Given the description of an element on the screen output the (x, y) to click on. 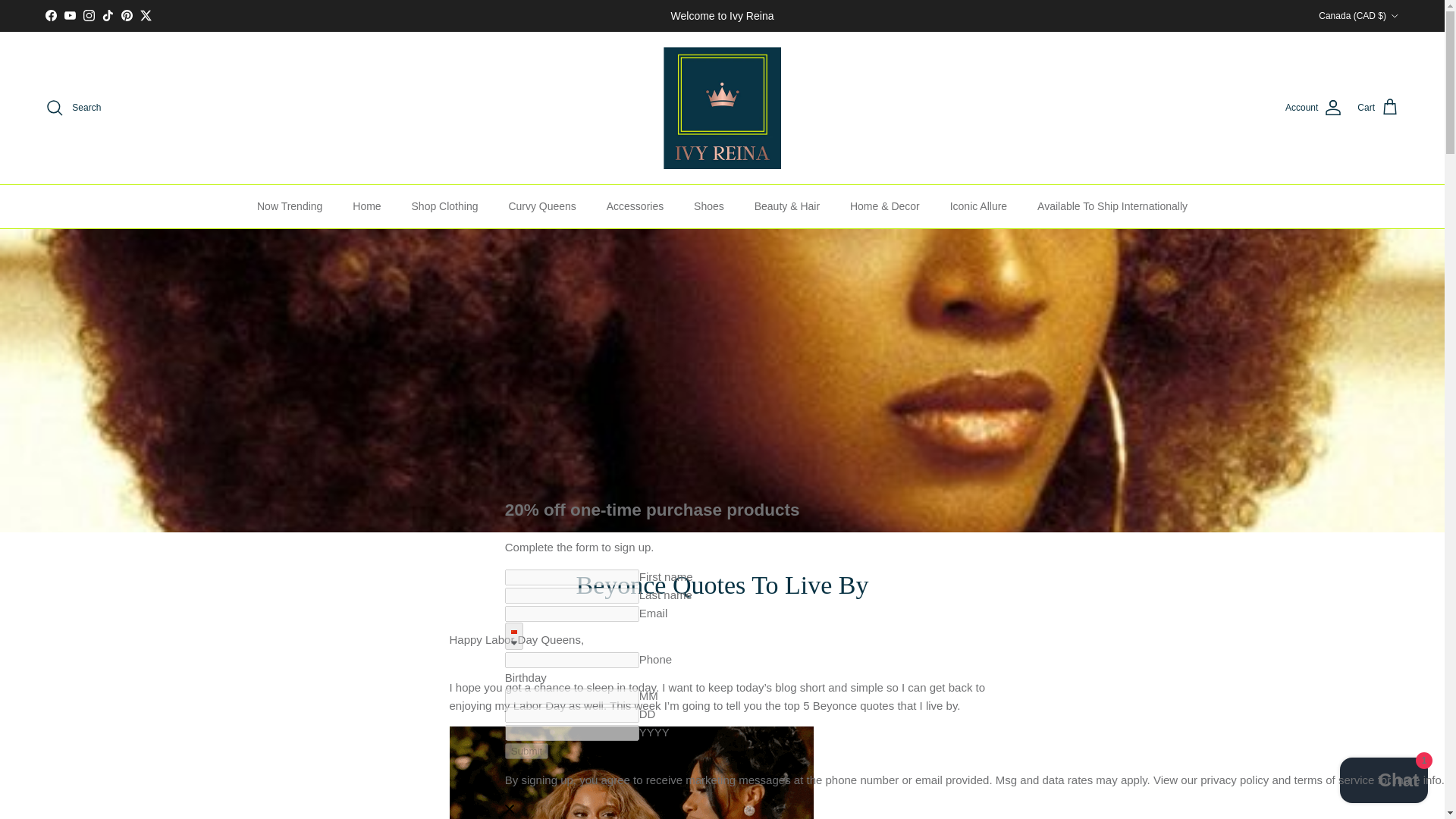
Ivy Reina on Pinterest (126, 15)
Cart (1377, 107)
Now Trending (289, 206)
TikTok (107, 15)
Ivy Reina on YouTube (69, 15)
YouTube (69, 15)
Ivy Reina on Instagram (88, 15)
Pinterest (126, 15)
Twitter (145, 15)
Ivy Reina (721, 107)
Ivy Reina on Facebook (50, 15)
Instagram (88, 15)
Ivy Reina on Twitter (145, 15)
Search (72, 107)
Facebook (50, 15)
